Given the description of an element on the screen output the (x, y) to click on. 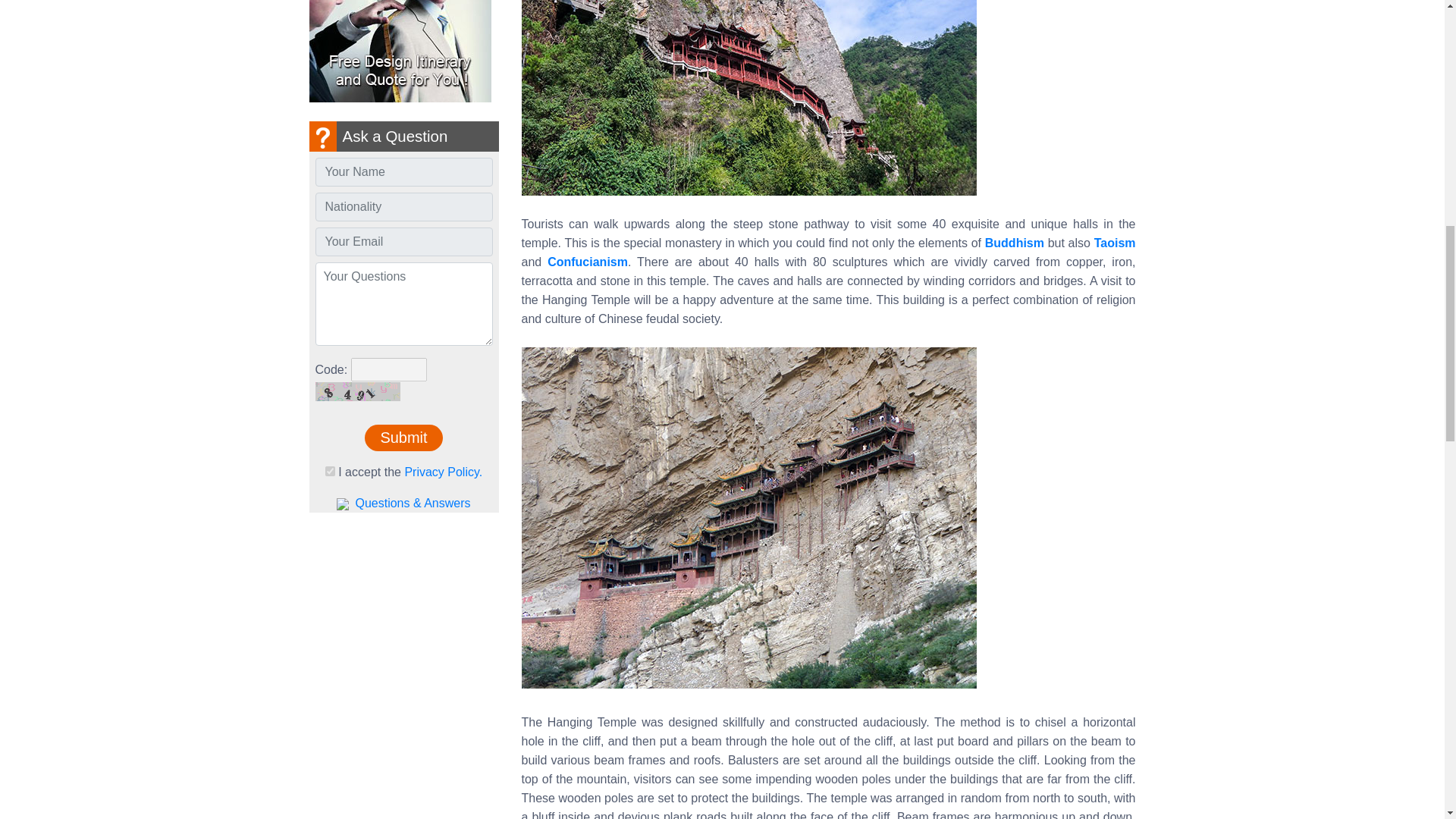
Submit (403, 438)
on (329, 470)
please select the above destinations that you want to go (404, 303)
